Given the description of an element on the screen output the (x, y) to click on. 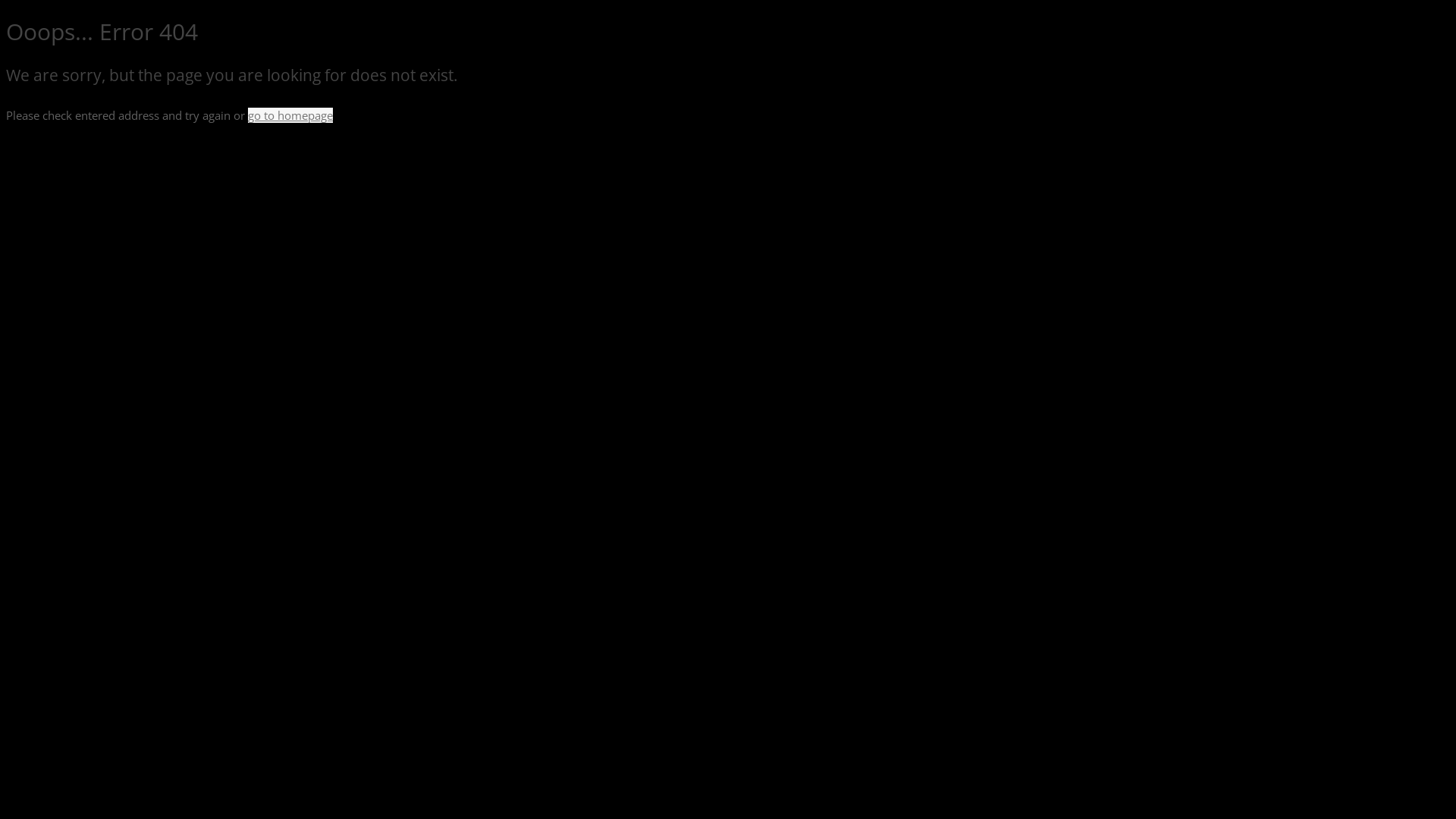
go to homepage Element type: text (289, 114)
